Given the description of an element on the screen output the (x, y) to click on. 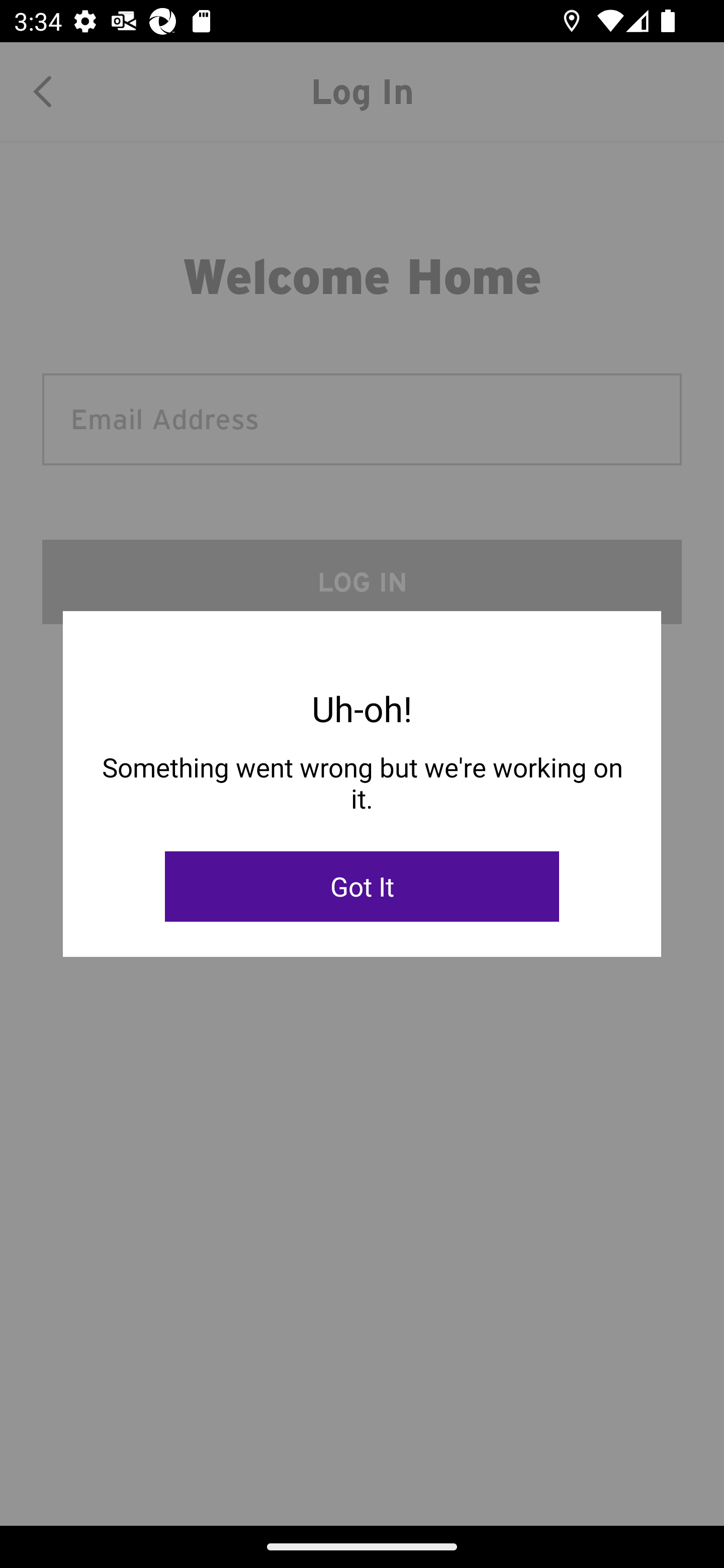
Got It (361, 886)
